Given the description of an element on the screen output the (x, y) to click on. 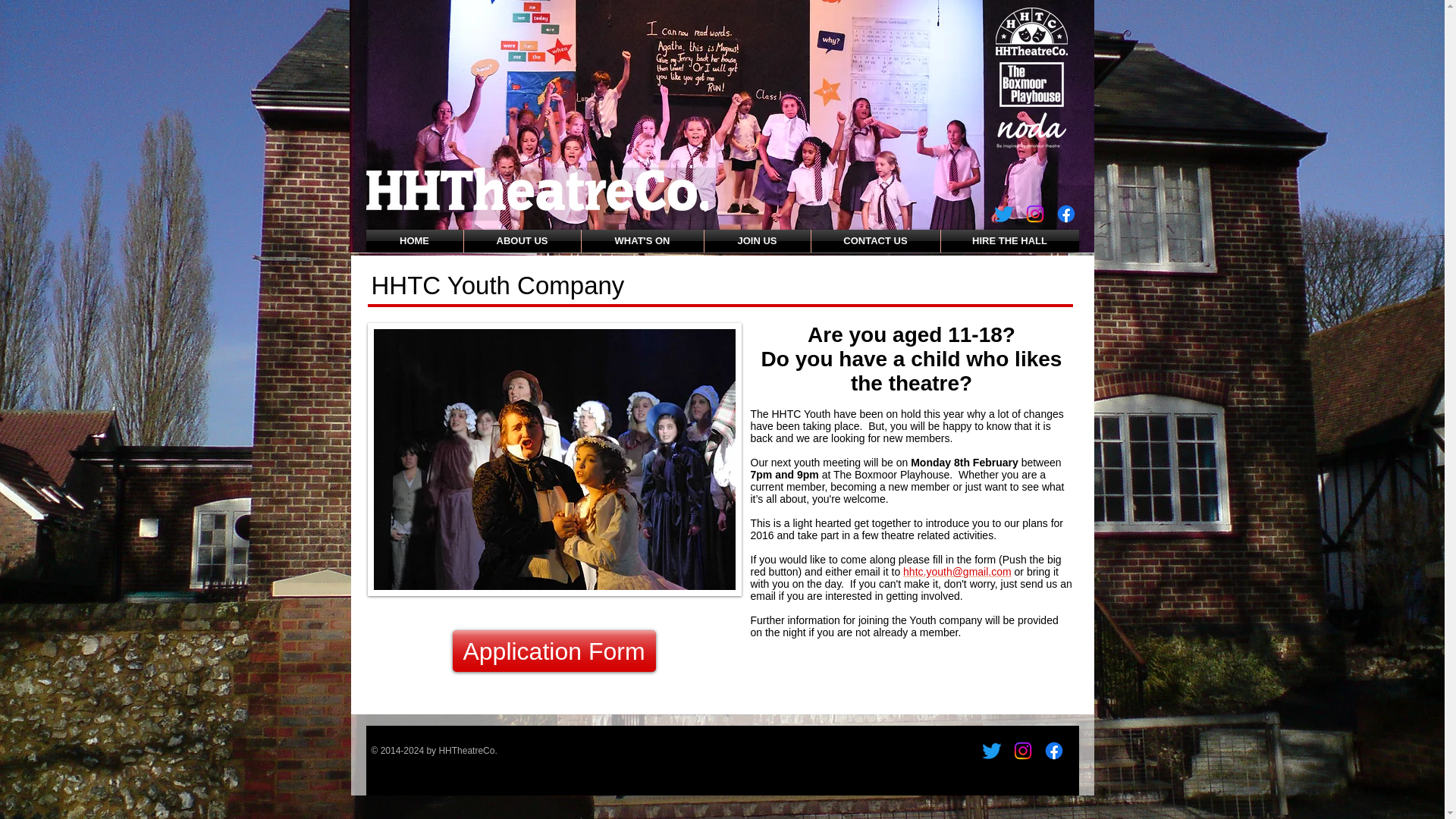
JOIN US (756, 241)
ABOUT US (522, 241)
Application Form (553, 650)
CONTACT US (875, 241)
HIRE THE HALL (1009, 241)
HOME (414, 241)
HHTheatreCo Logo.png (536, 188)
WHAT'S ON (641, 241)
